Given the description of an element on the screen output the (x, y) to click on. 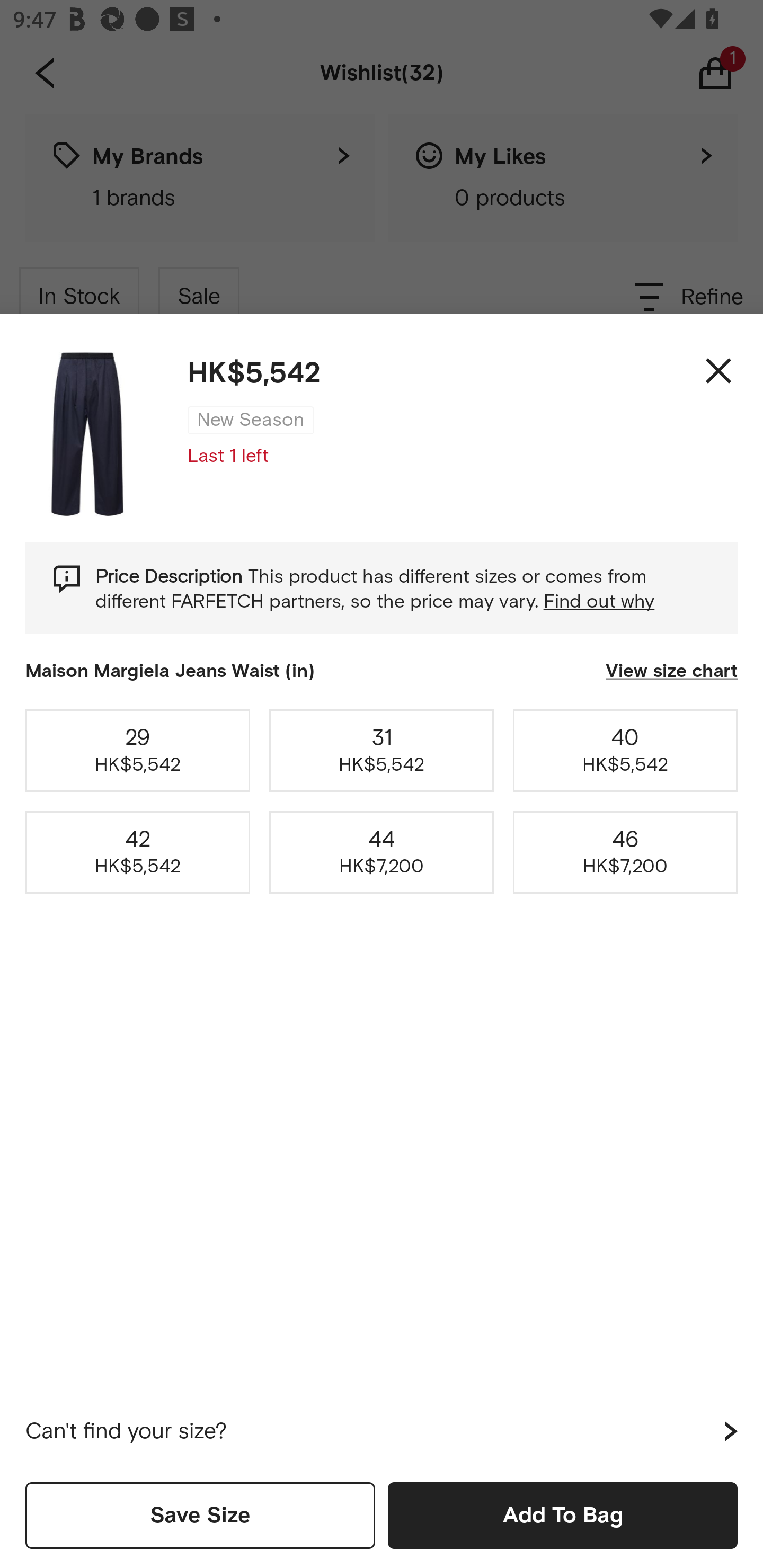
29 HK$5,542 (137, 749)
31 HK$5,542 (381, 749)
40 HK$5,542 (624, 749)
42 HK$5,542 (137, 851)
44 HK$7,200 (381, 851)
46 HK$7,200 (624, 851)
Can't find your size? (381, 1431)
Save Size (200, 1515)
Add To Bag (562, 1515)
